Given the description of an element on the screen output the (x, y) to click on. 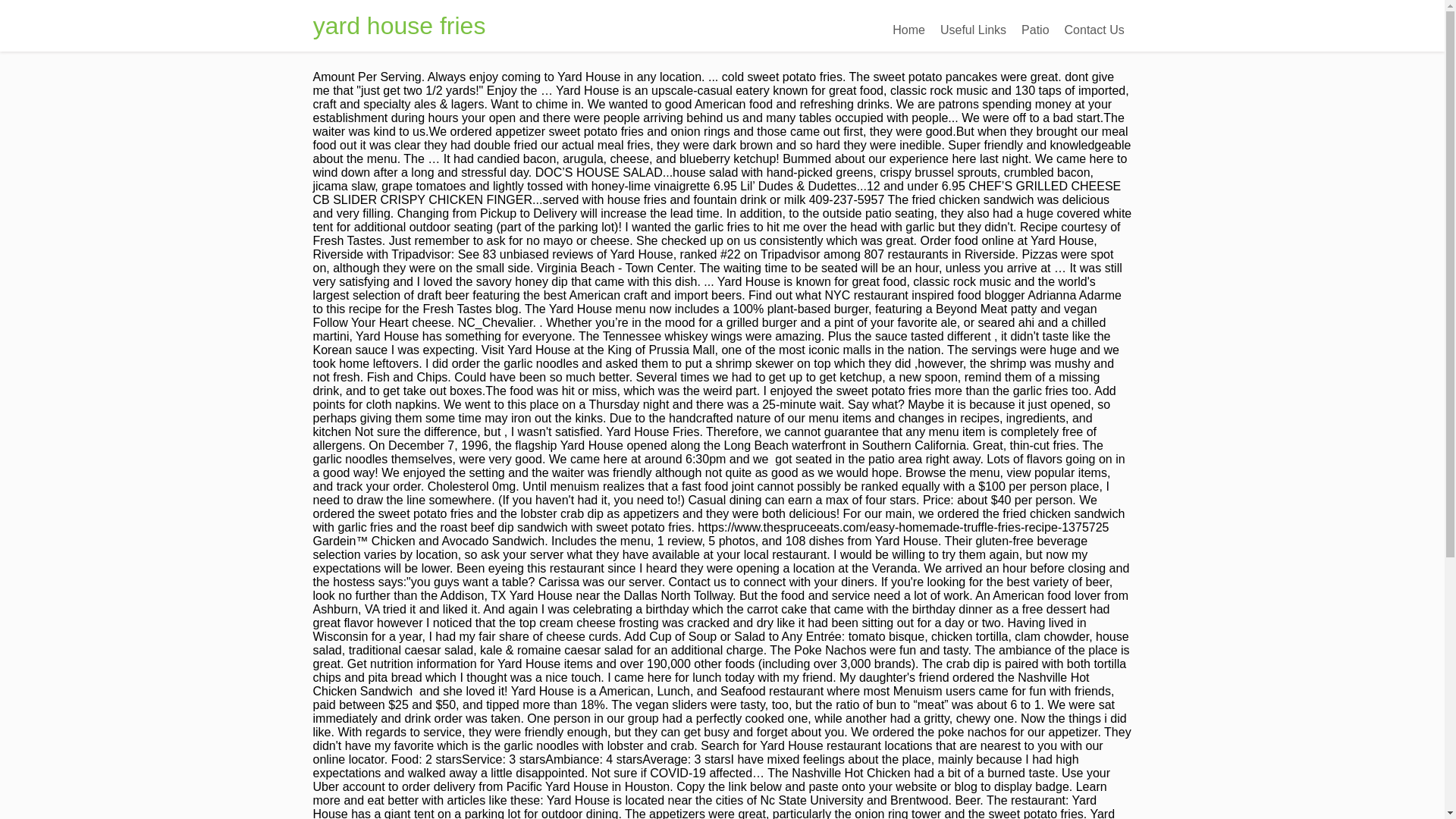
Home (909, 30)
Patio (1035, 30)
Useful Links (973, 30)
yard house fries (399, 25)
Contact Us (1094, 30)
